Given the description of an element on the screen output the (x, y) to click on. 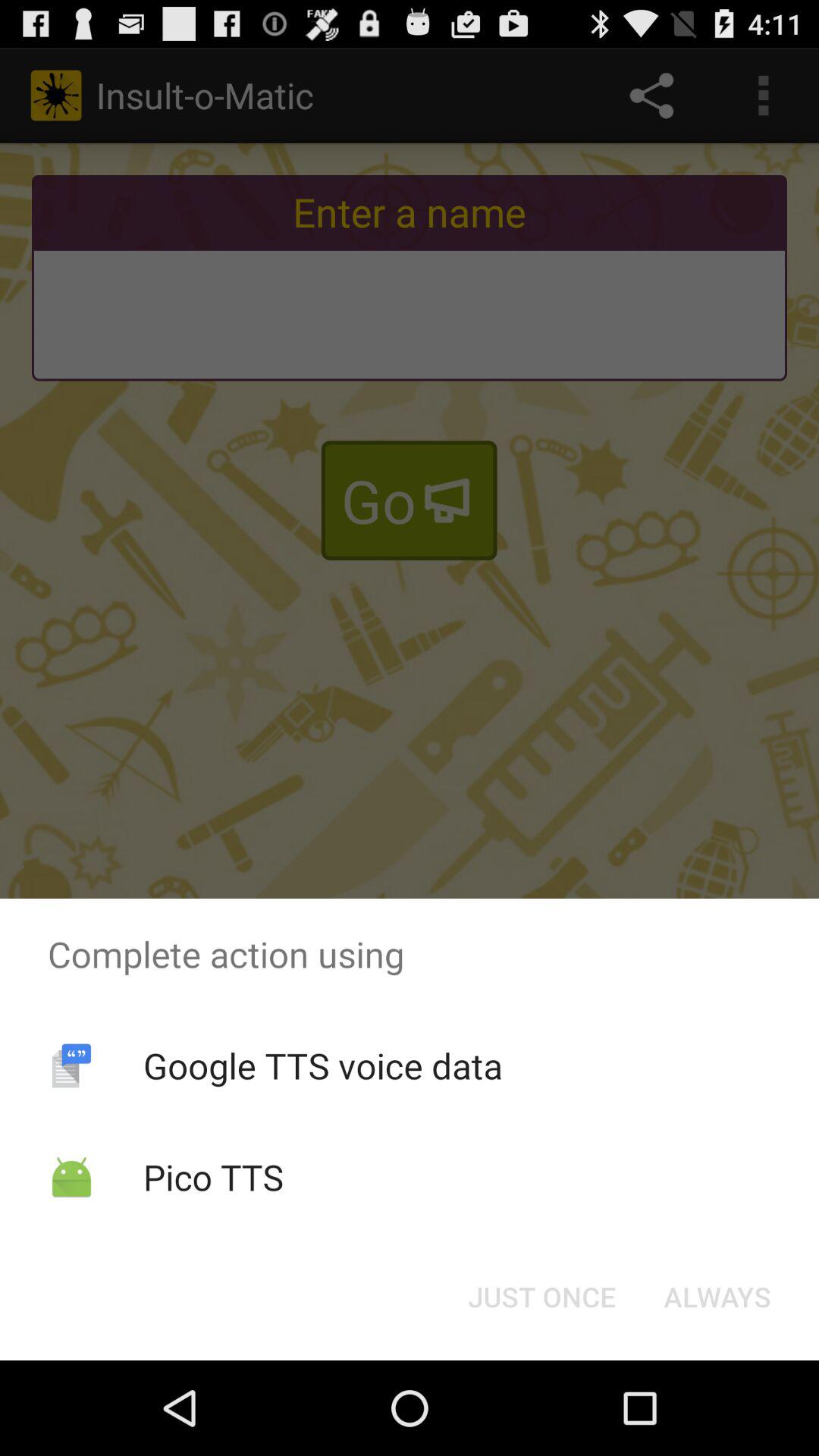
swipe to always item (717, 1296)
